Given the description of an element on the screen output the (x, y) to click on. 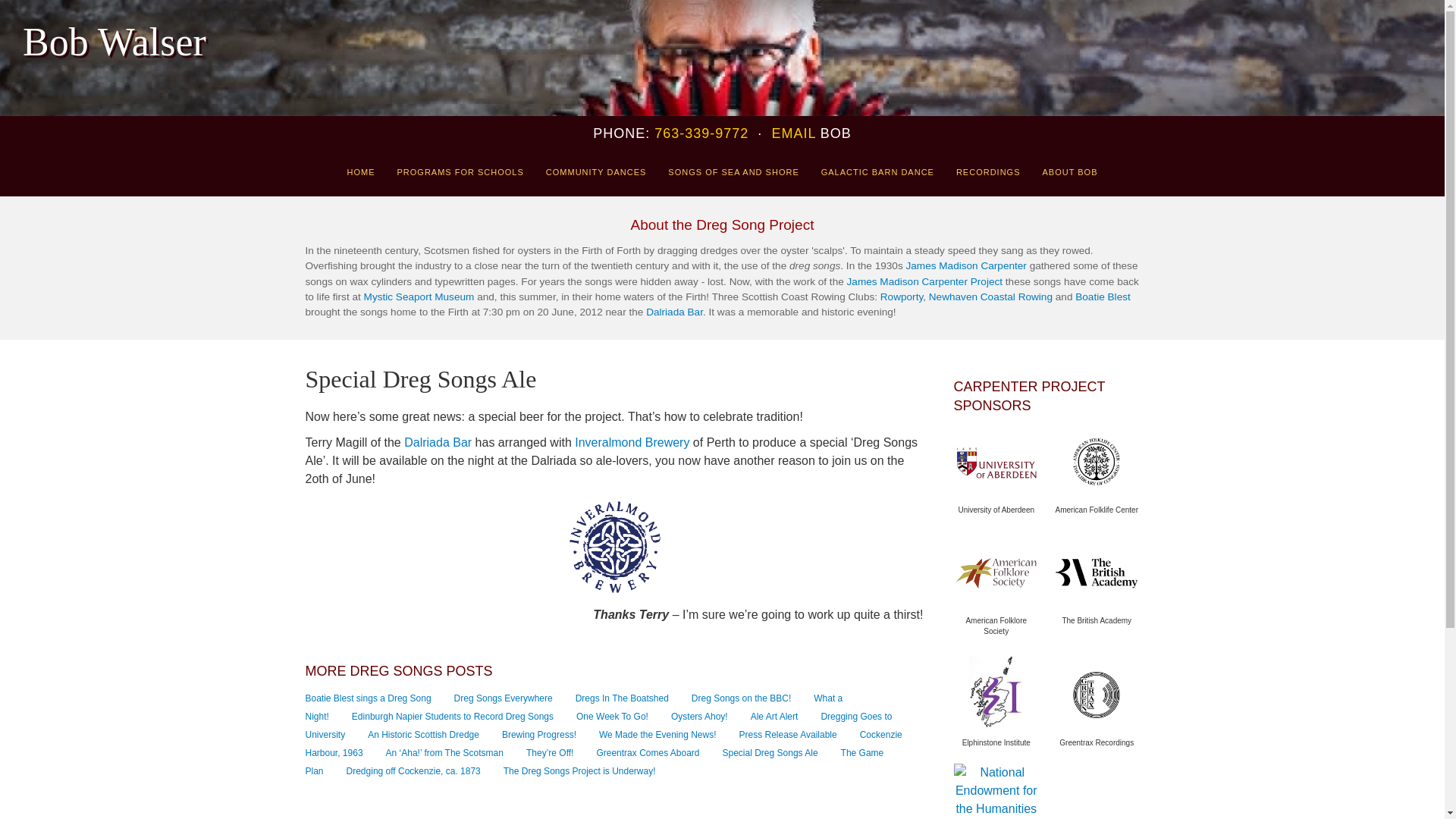
Dregs In The Boatshed (621, 697)
We Made the Evening News! (657, 734)
Boatie Blest (1103, 296)
What a Night! (573, 706)
Rowporty (901, 296)
A brief biography of James Madison Carpenter (965, 265)
Edinburgh Napier Students to Record Dreg Songs (452, 716)
Dreg Songs Everywhere (503, 697)
Contact (793, 133)
COMMUNITY DANCES (596, 172)
